Given the description of an element on the screen output the (x, y) to click on. 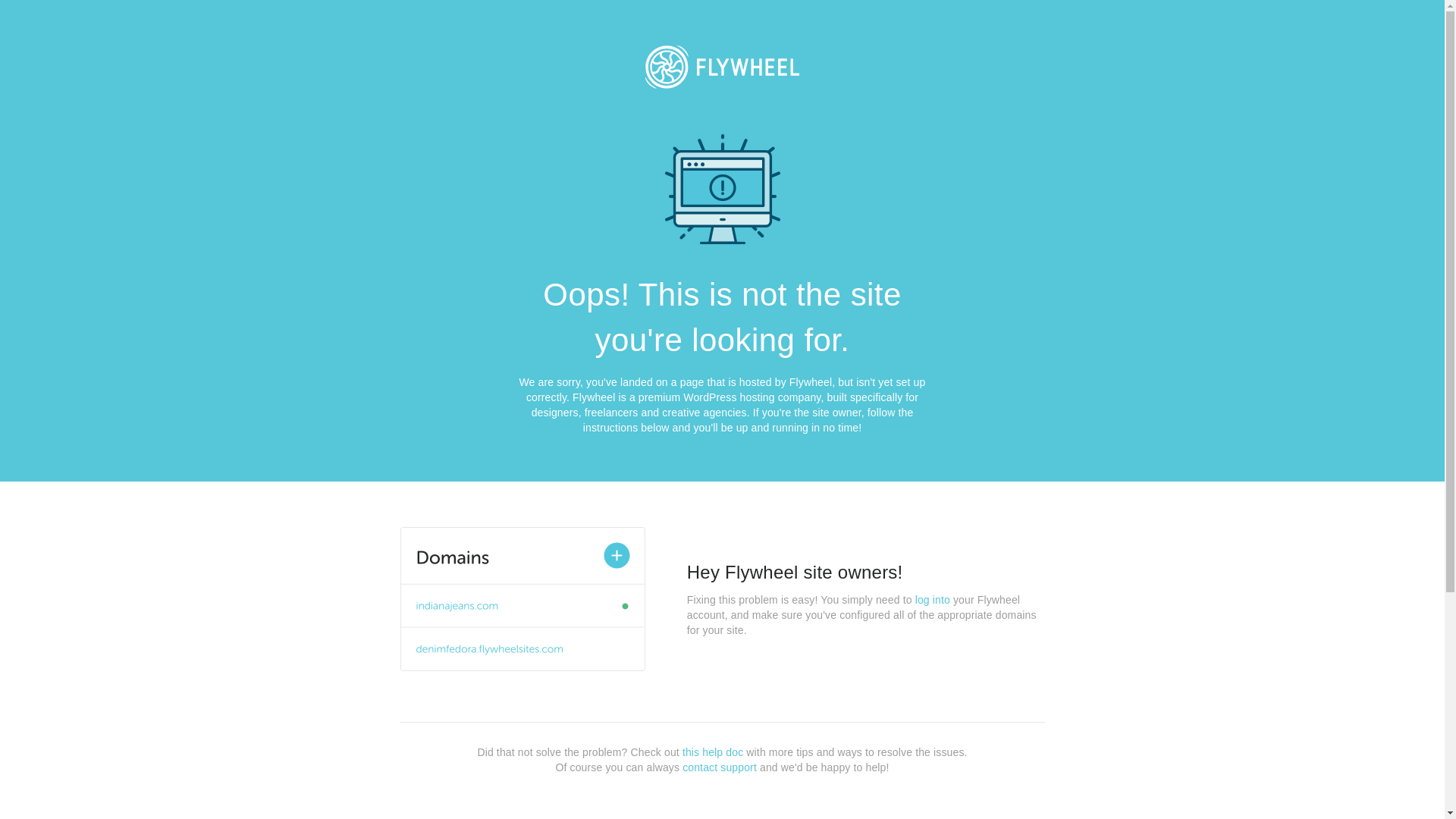
log into (932, 599)
contact support (719, 767)
this help doc (712, 752)
